Given the description of an element on the screen output the (x, y) to click on. 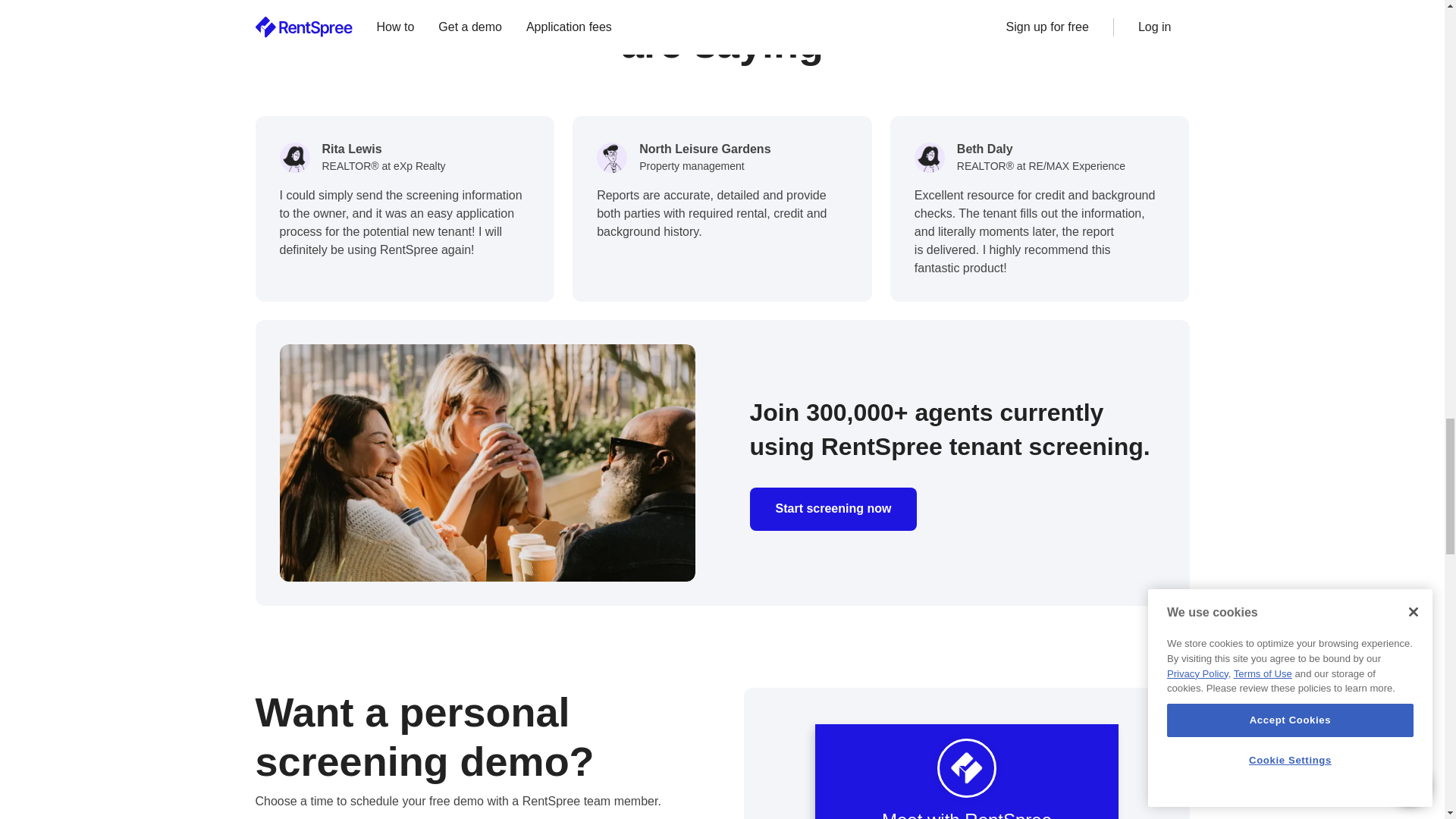
Start screening now (833, 508)
